Given the description of an element on the screen output the (x, y) to click on. 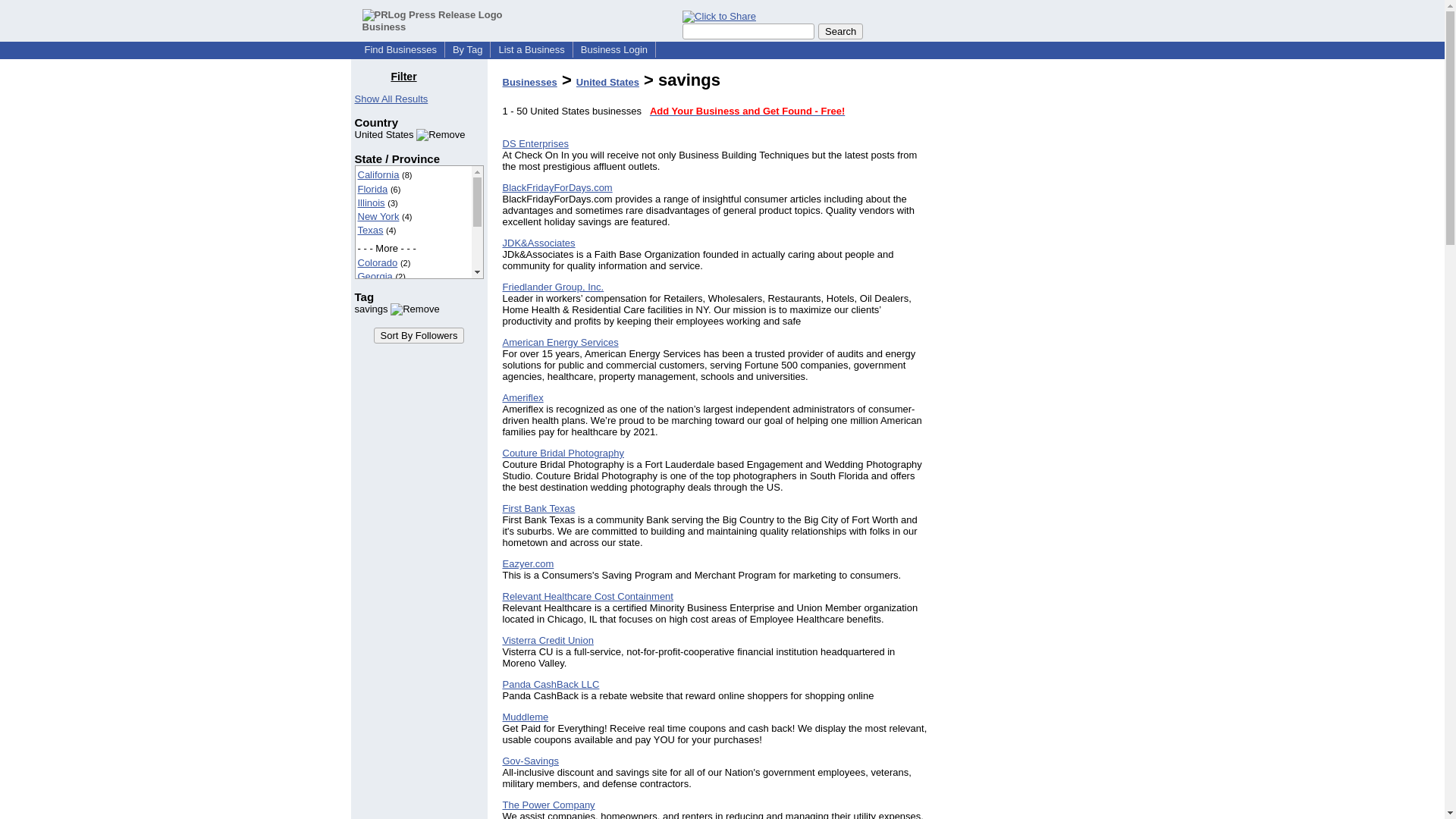
Illinois (371, 202)
BlackFridayForDays.com (556, 187)
Click to see the index with all filters cleared (391, 98)
Friedlander Group, Inc. (553, 286)
Click on an option to filter or browse by that option (419, 222)
Ameriflex (522, 397)
savings (397, 308)
New York (378, 215)
Search (840, 31)
Texas (371, 229)
Georgia (375, 276)
List a Business (531, 49)
Maryland (377, 289)
California (378, 174)
Sort By Followers (419, 335)
